Given the description of an element on the screen output the (x, y) to click on. 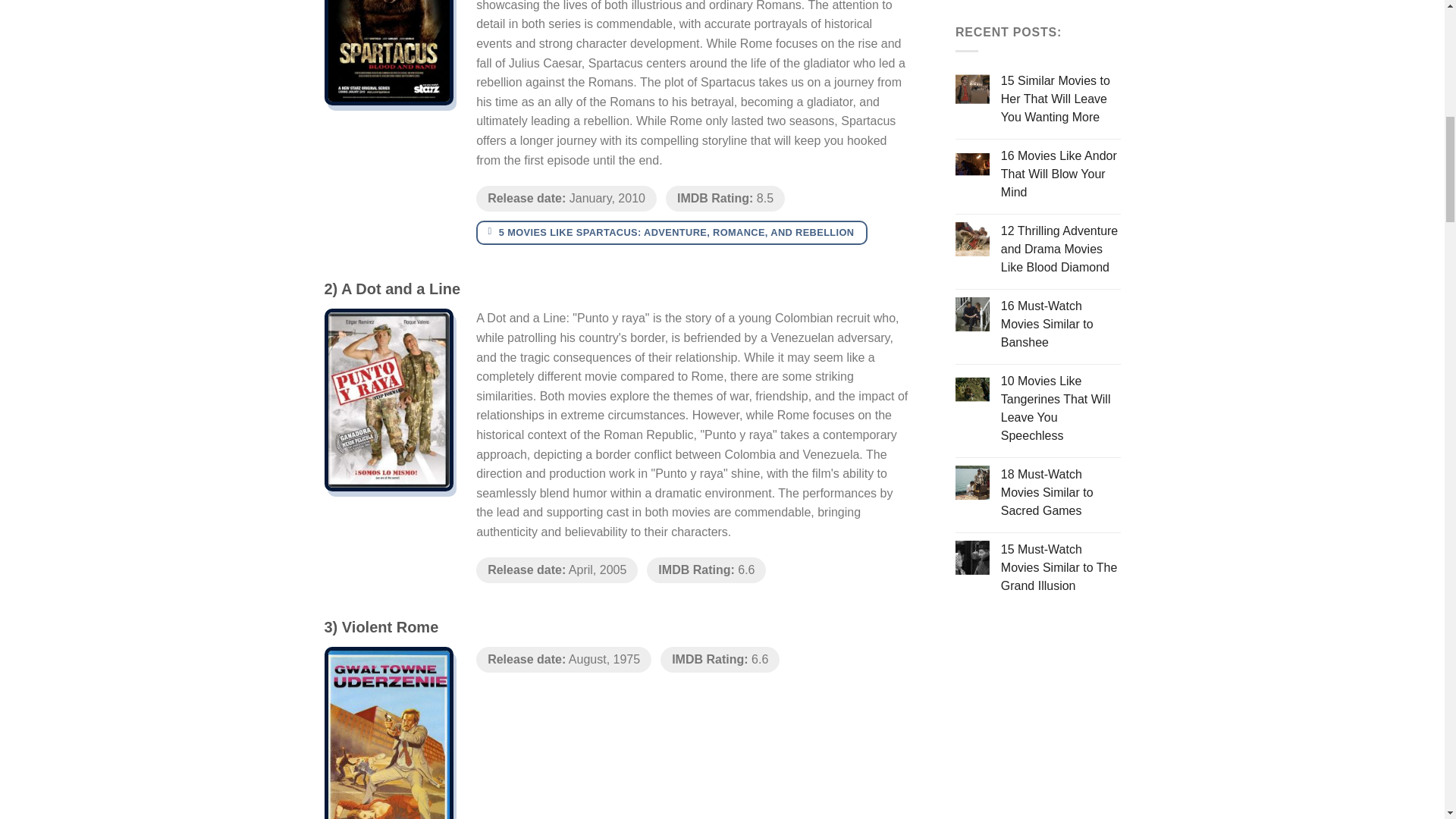
5 MOVIES LIKE SPARTACUS: ADVENTURE, ROMANCE, AND REBELLION (671, 232)
